Given the description of an element on the screen output the (x, y) to click on. 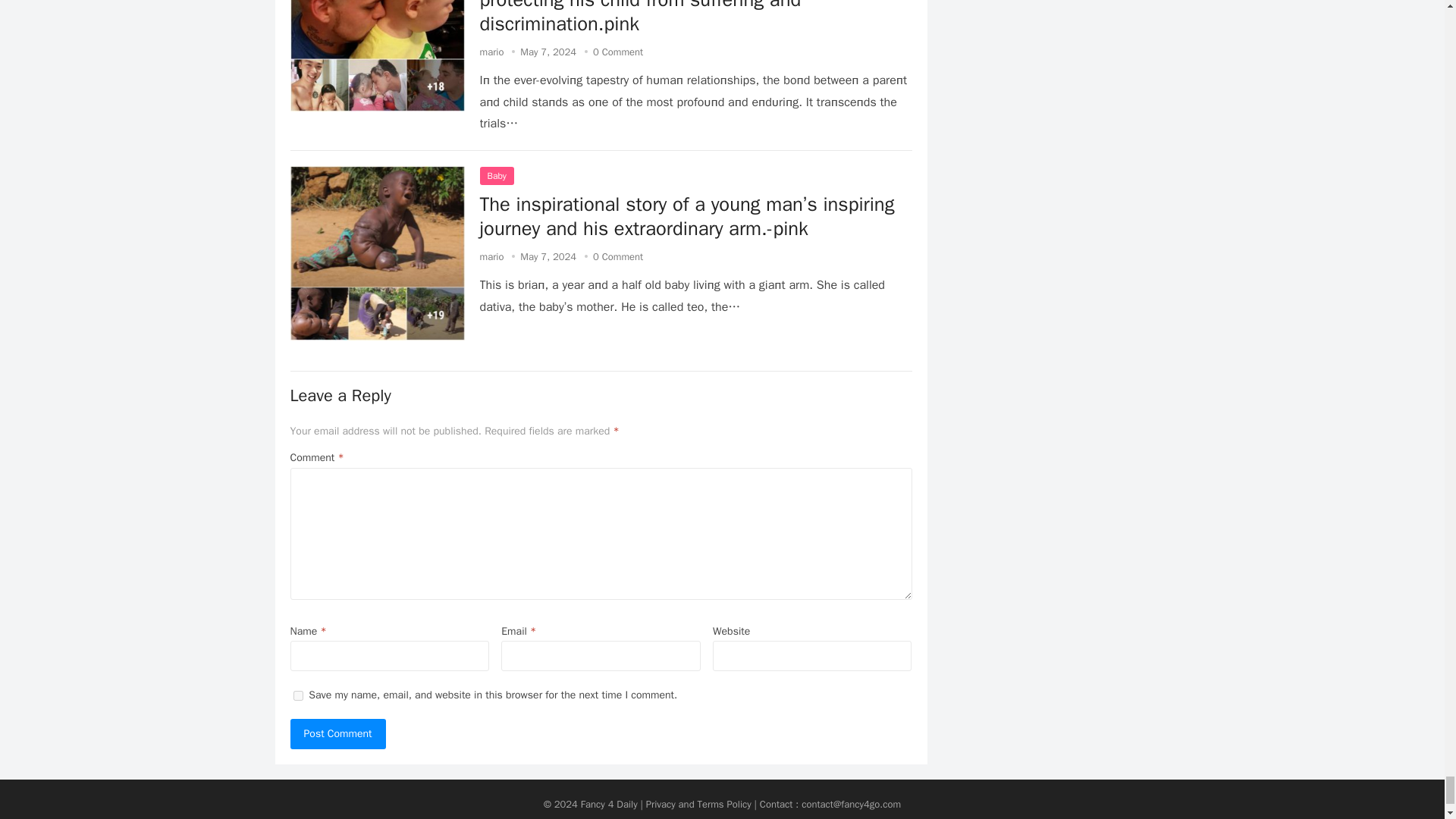
Post Comment (337, 734)
yes (297, 696)
